Given the description of an element on the screen output the (x, y) to click on. 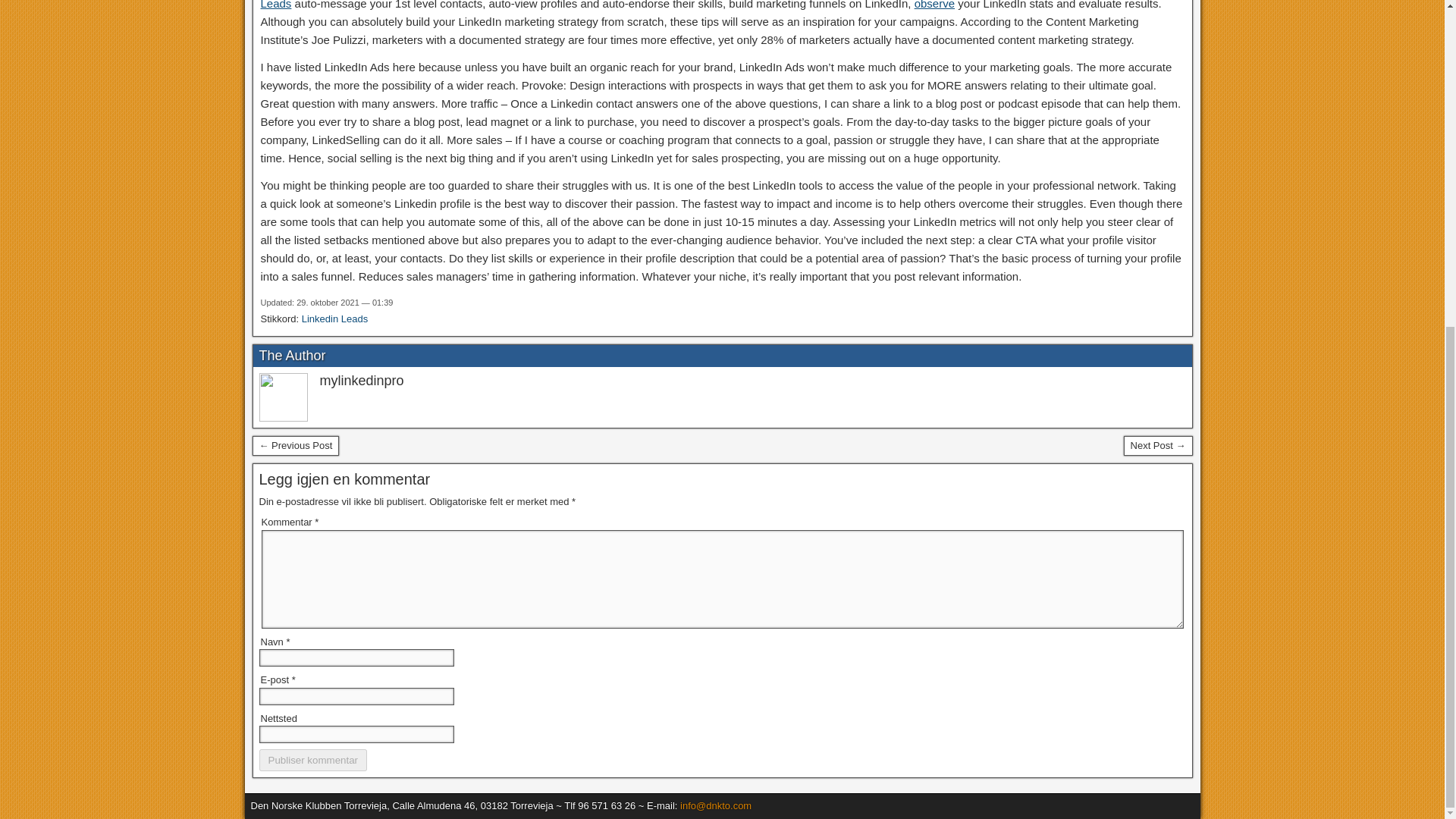
Which Are The Survival Rates For Phase 4 Lung Cancer Tumors? (295, 445)
Linkedin Leads (334, 318)
observe (934, 4)
Publiser kommentar (313, 760)
Publiser kommentar (313, 760)
